Given the description of an element on the screen output the (x, y) to click on. 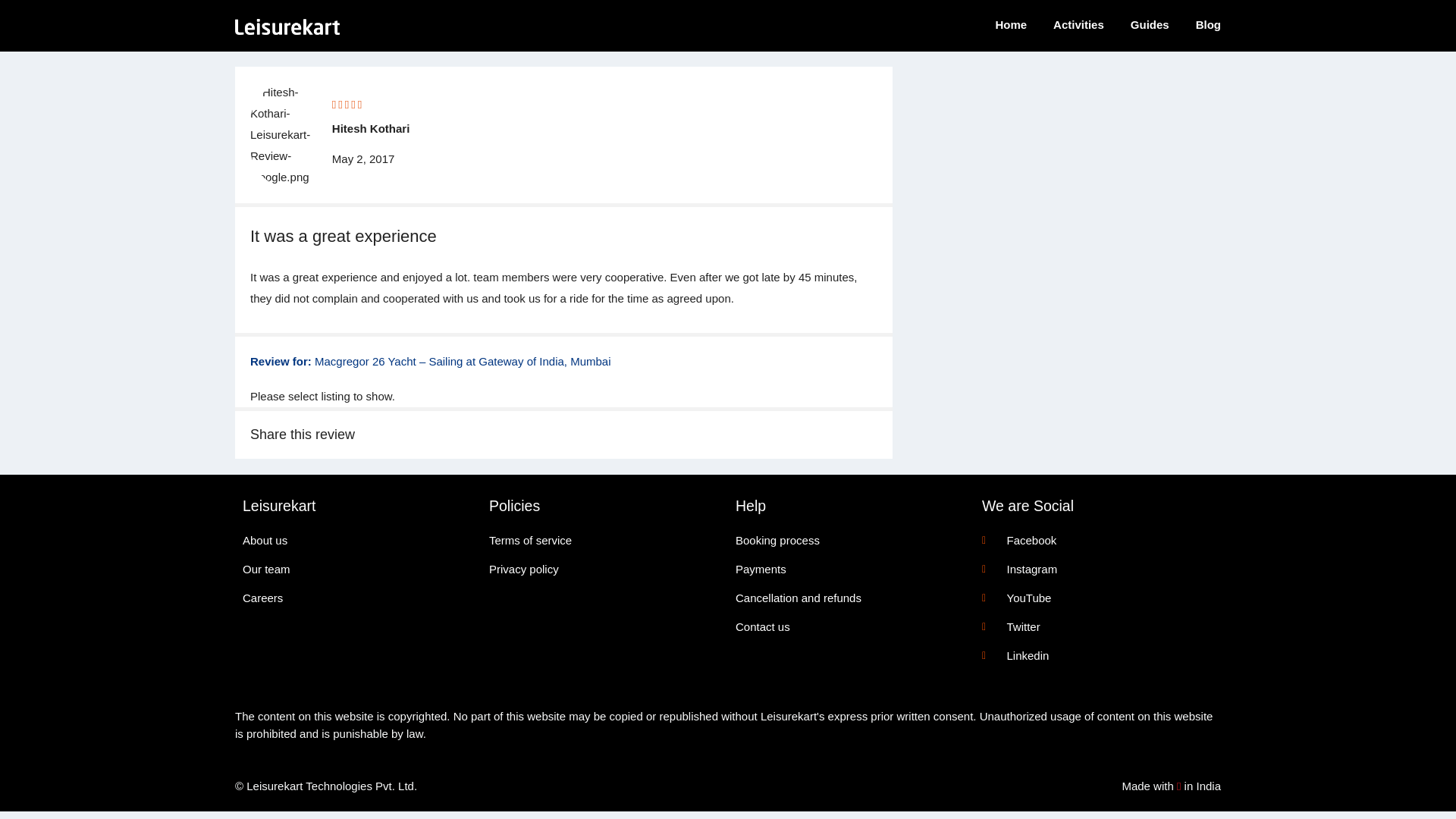
Twitter (1096, 627)
Contact us (850, 627)
Payments (850, 568)
Our team (358, 568)
Guides (1150, 24)
Hitesh-Kothari-Leisurekart-Review-Google.png (290, 134)
Activities (1077, 24)
Instagram (1096, 568)
Careers (358, 598)
YouTube (1096, 598)
Terms of service (604, 540)
Facebook (1096, 540)
Blog (1208, 24)
Privacy policy (604, 568)
About us (358, 540)
